Given the description of an element on the screen output the (x, y) to click on. 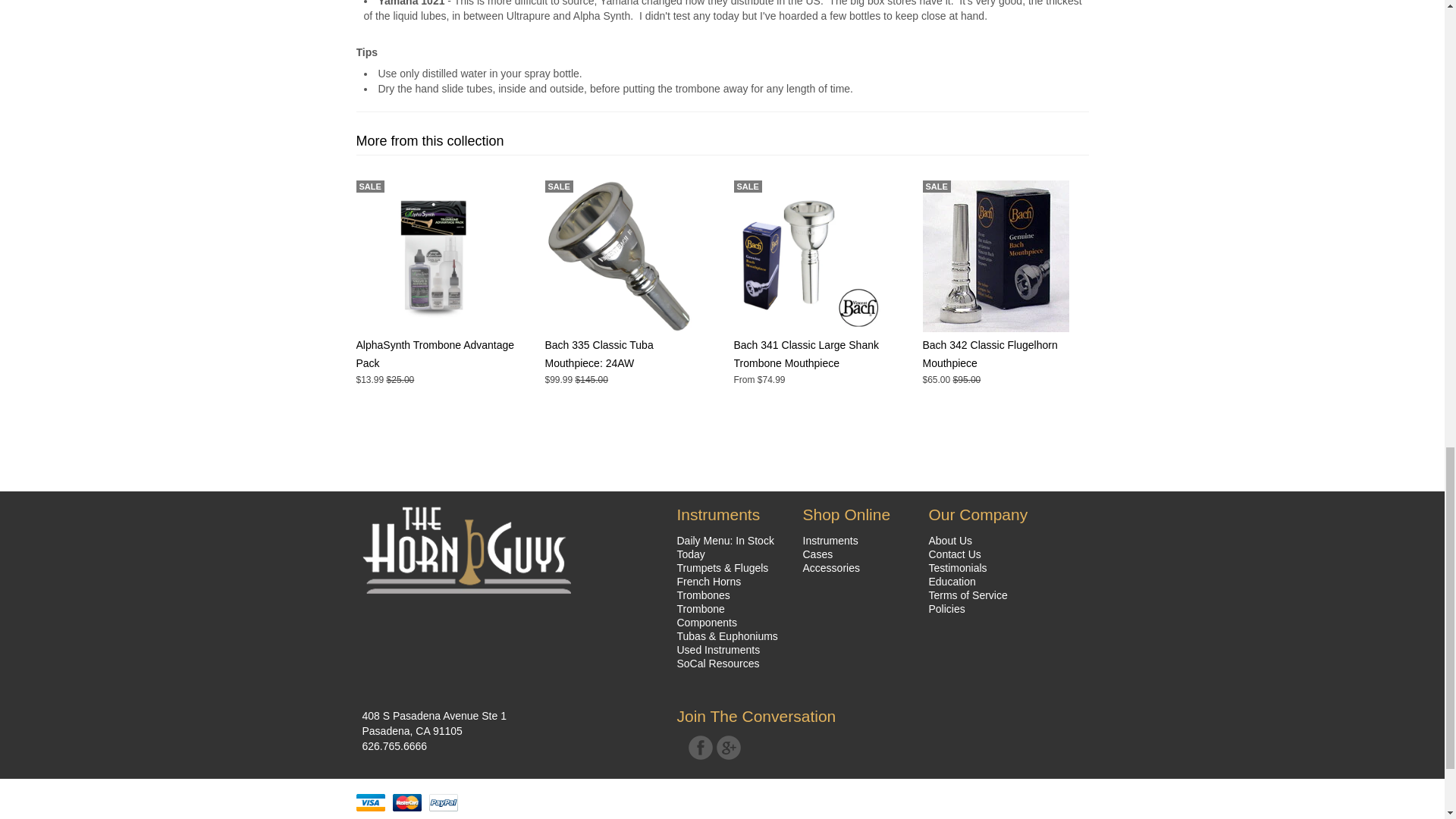
The Horn Guys on Facebook (700, 747)
